Given the description of an element on the screen output the (x, y) to click on. 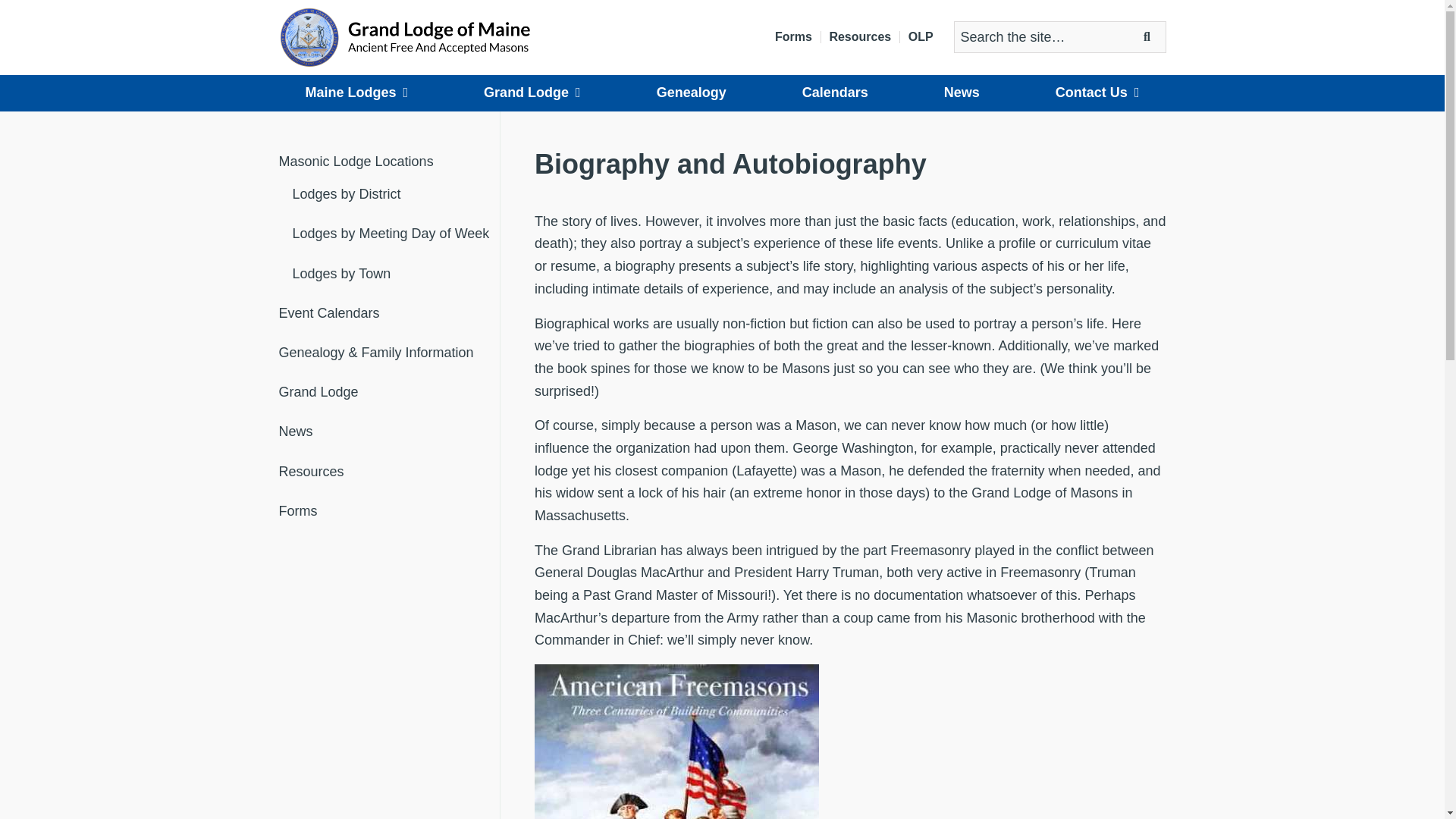
Grand Lodge (389, 392)
Grand Lodge (531, 93)
Maine Lodges (355, 93)
Genealogy (691, 93)
Calendars (834, 93)
News (961, 93)
Contact Us (1097, 93)
Forms (389, 511)
Event Calendars (389, 313)
Masonic Lodge Locations (389, 161)
Genealogy (691, 93)
Lodges by District (396, 194)
Maine Lodges (355, 93)
Forms (794, 37)
News (961, 93)
